Given the description of an element on the screen output the (x, y) to click on. 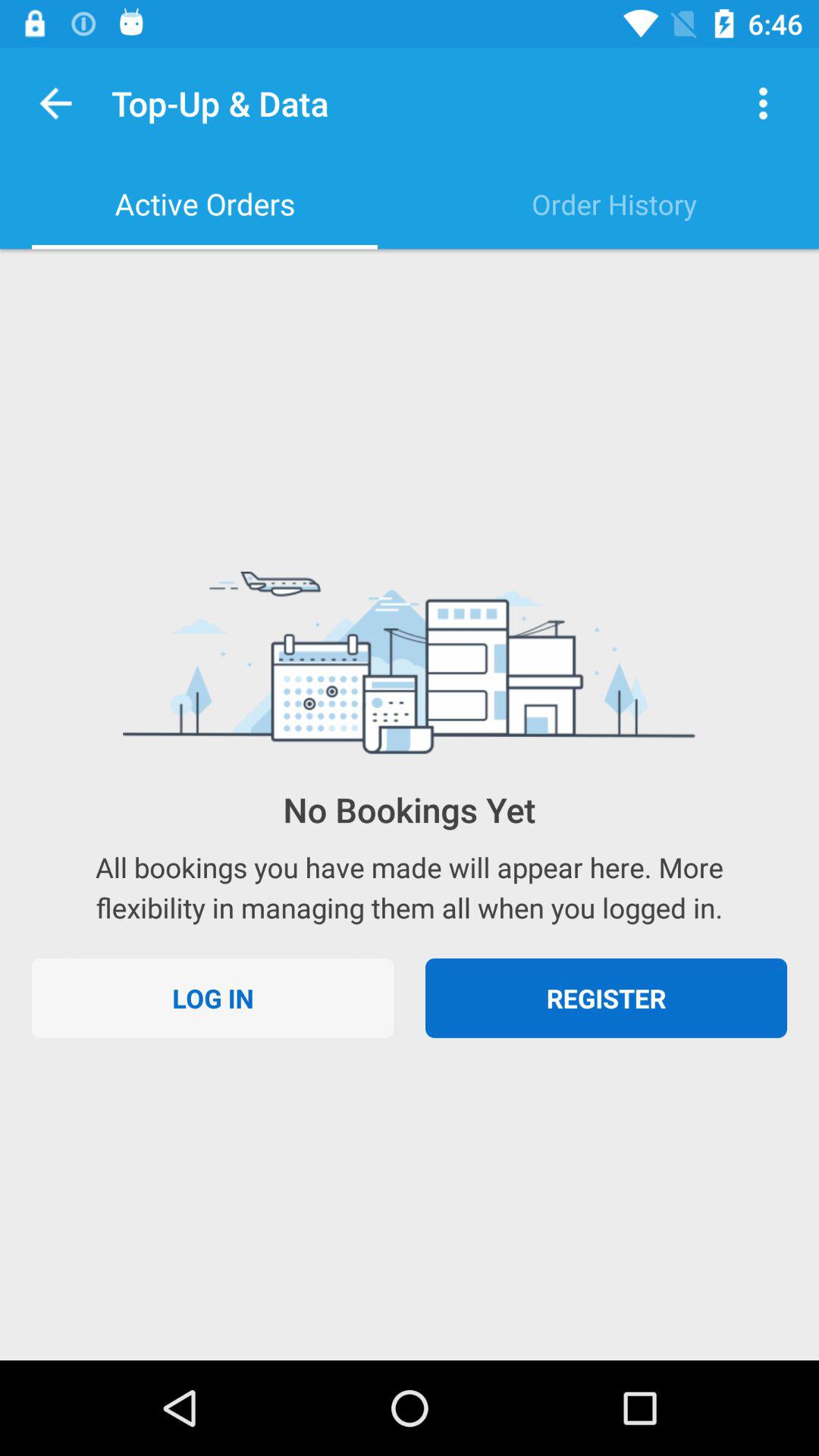
open the active orders icon (204, 204)
